Given the description of an element on the screen output the (x, y) to click on. 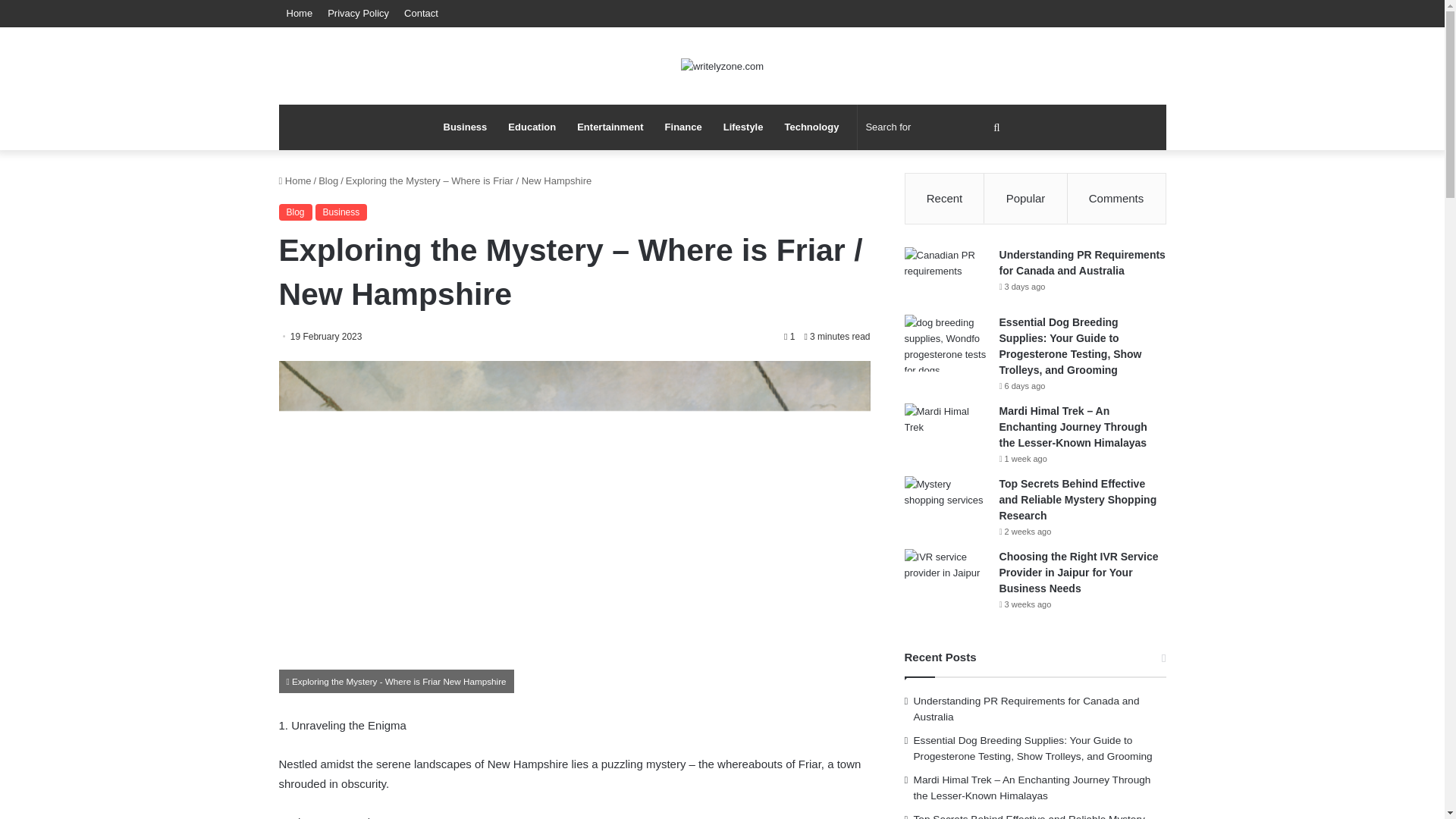
Recent (945, 198)
Finance (683, 126)
Popular (1025, 198)
Blog (327, 180)
Lifestyle (743, 126)
Education (531, 126)
Search for (934, 126)
Entertainment (609, 126)
Business (464, 126)
Comments (1116, 198)
